Given the description of an element on the screen output the (x, y) to click on. 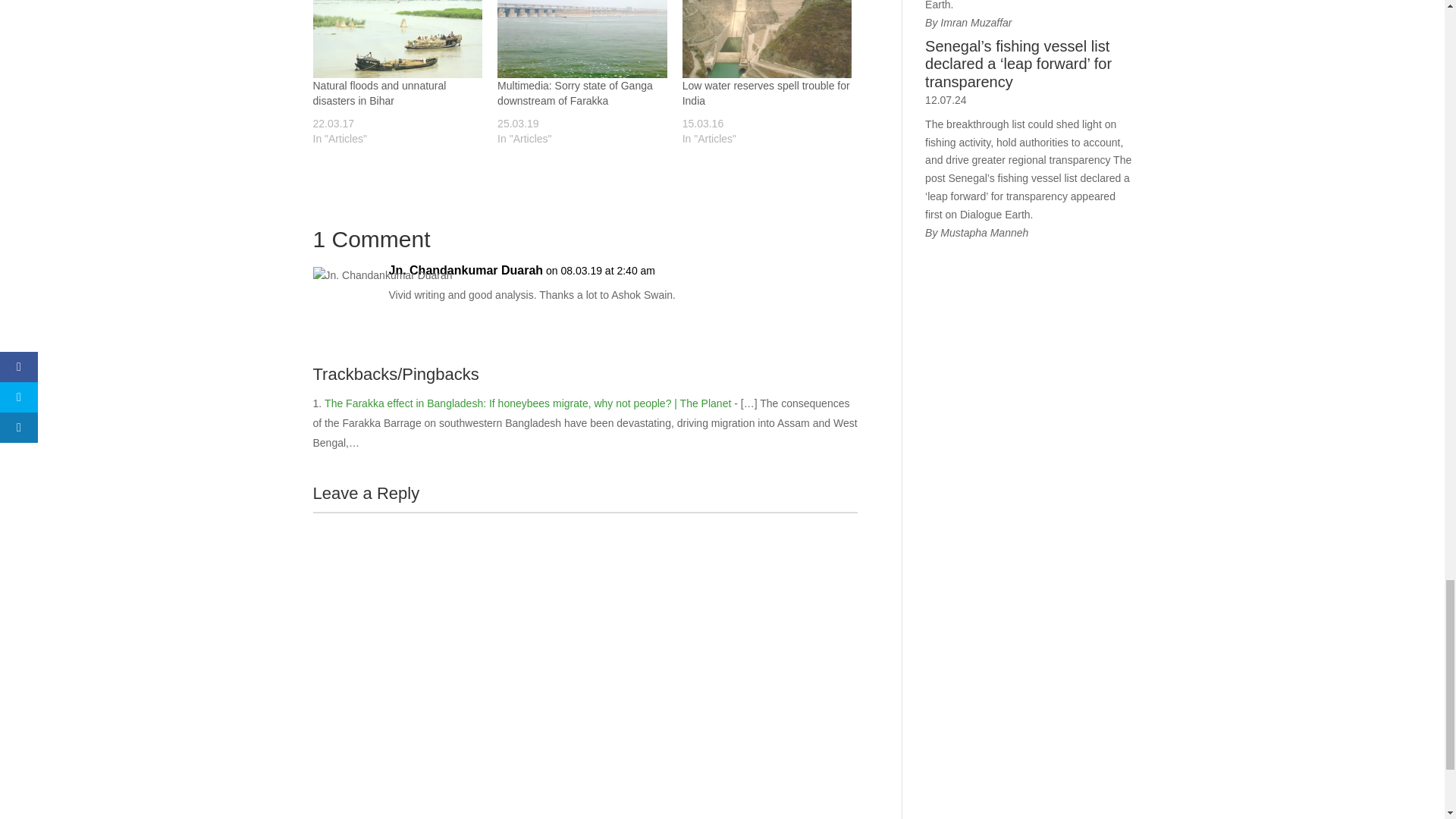
Multimedia: Sorry state of Ganga downstream of Farakka (574, 93)
Multimedia: Sorry state of Ganga downstream of Farakka (574, 93)
Low water reserves spell trouble for India (766, 93)
Low water reserves spell trouble for India (766, 93)
Natural floods and unnatural disasters in Bihar (379, 93)
Jn. Chandankumar Duarah (465, 270)
Multimedia: Sorry state of Ganga downstream of Farakka (581, 38)
Natural floods and unnatural disasters in Bihar (397, 38)
Natural floods and unnatural disasters in Bihar (379, 93)
Low water reserves spell trouble for India (766, 38)
